Given the description of an element on the screen output the (x, y) to click on. 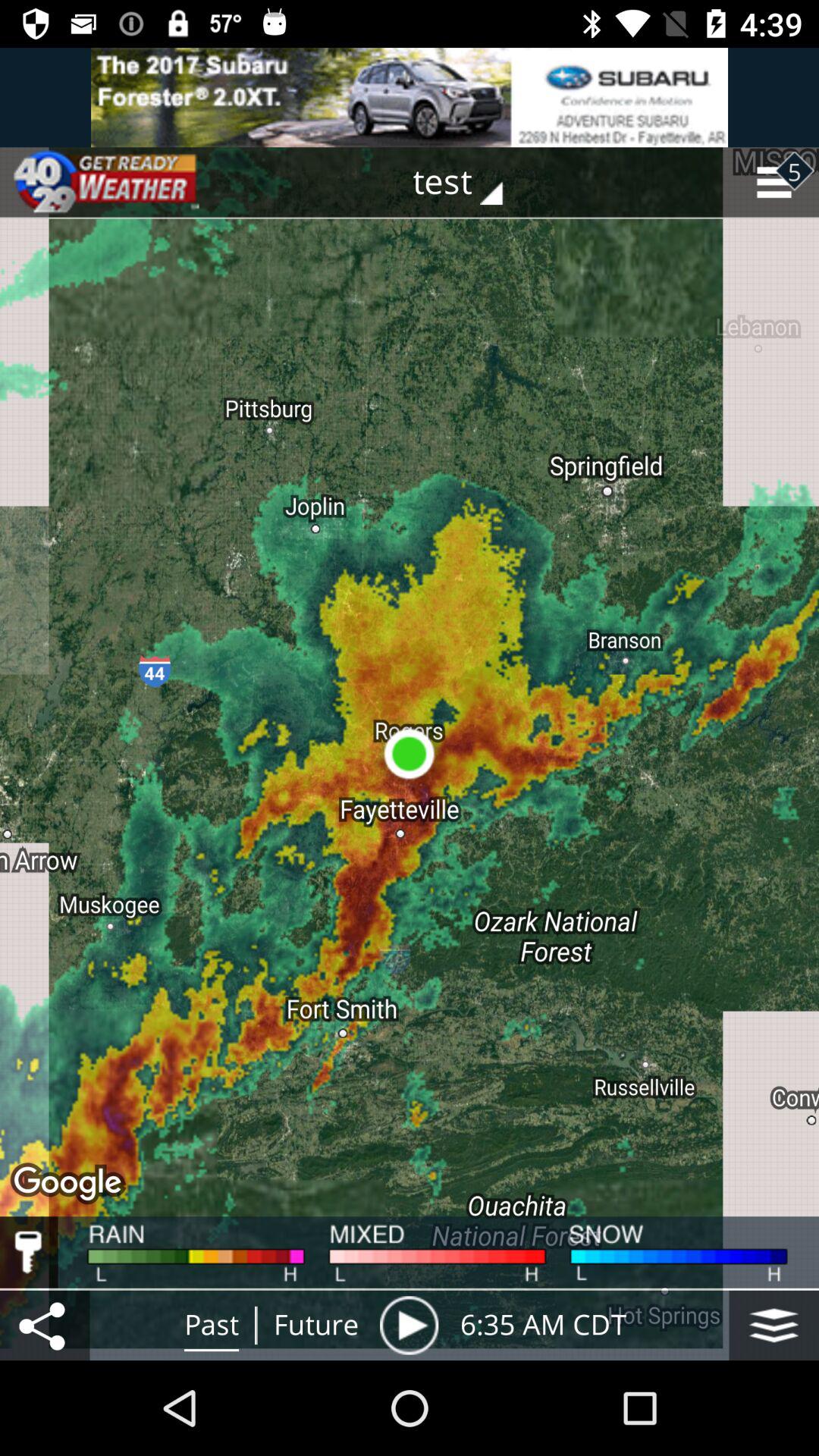
toggle notification option (409, 97)
